Given the description of an element on the screen output the (x, y) to click on. 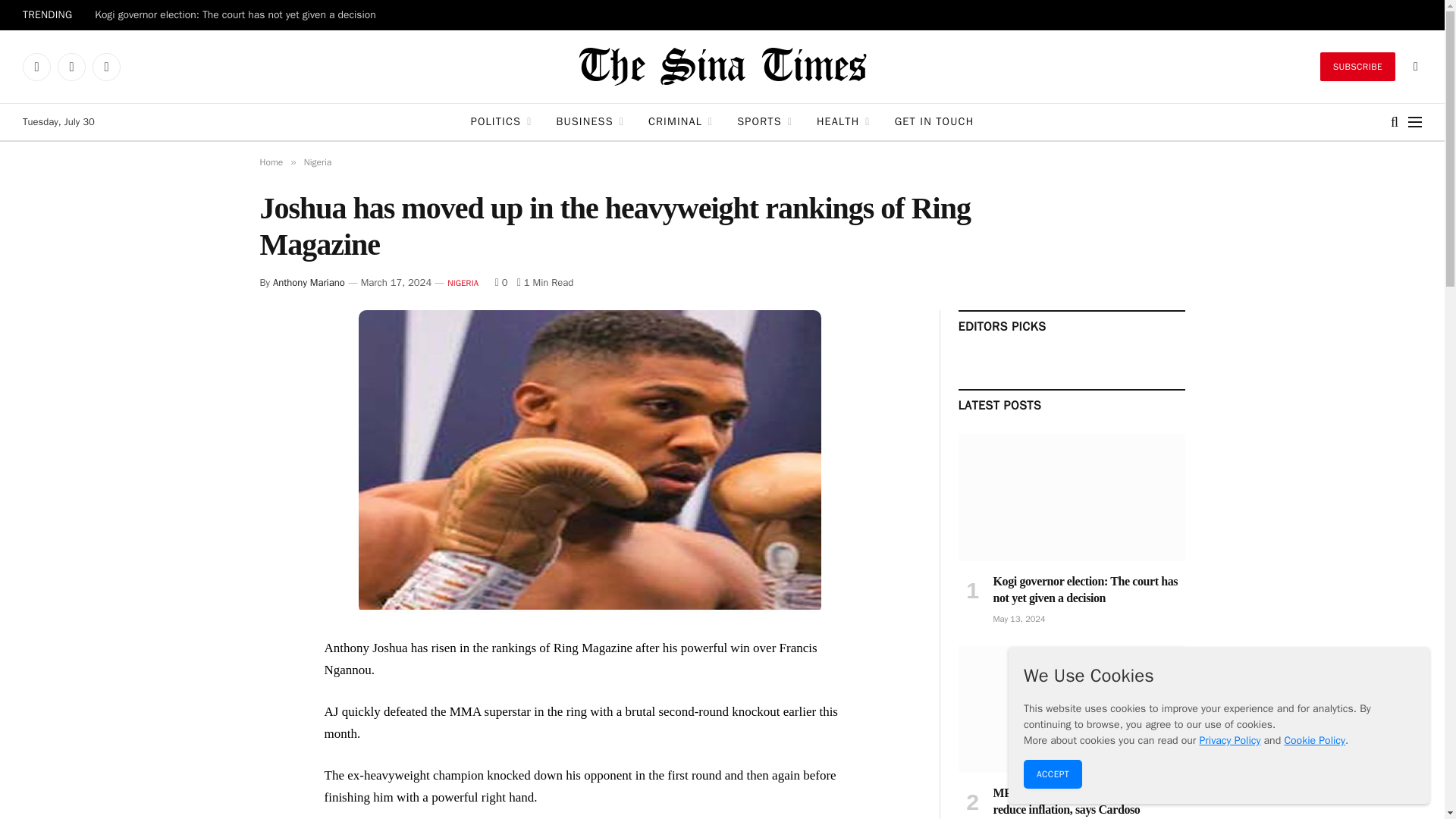
POLITICS (501, 122)
RSS (106, 67)
The Sina Times (722, 66)
Telegram (71, 67)
Switch to Dark Design - easier on eyes. (1414, 66)
BUSINESS (589, 122)
SUBSCRIBE (1357, 66)
